Given the description of an element on the screen output the (x, y) to click on. 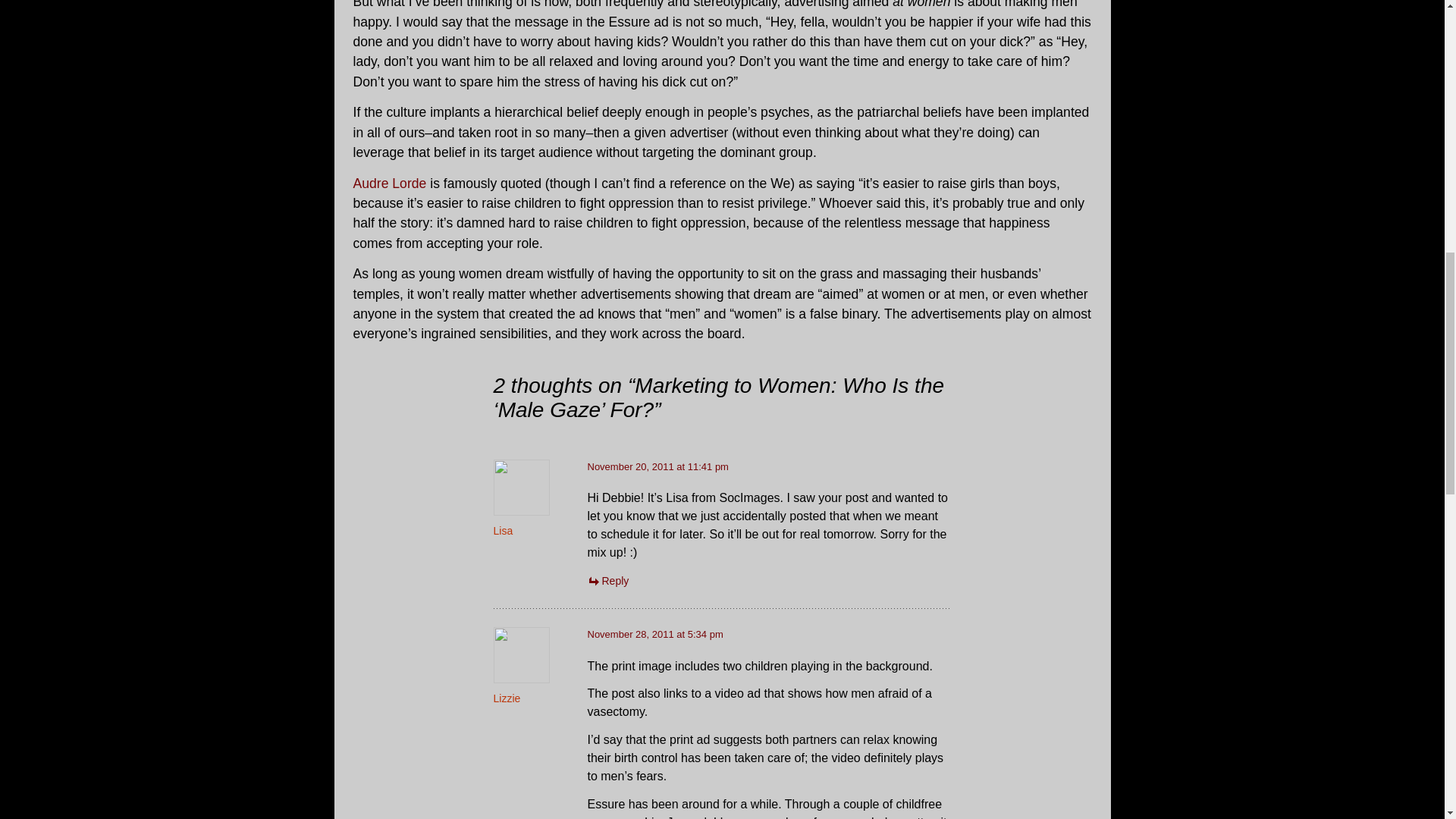
Audre Lorde (389, 183)
Lisa (502, 530)
November 28, 2011 at 5:34 pm (654, 633)
November 20, 2011 at 11:41 pm (657, 466)
Reply (607, 580)
